Given the description of an element on the screen output the (x, y) to click on. 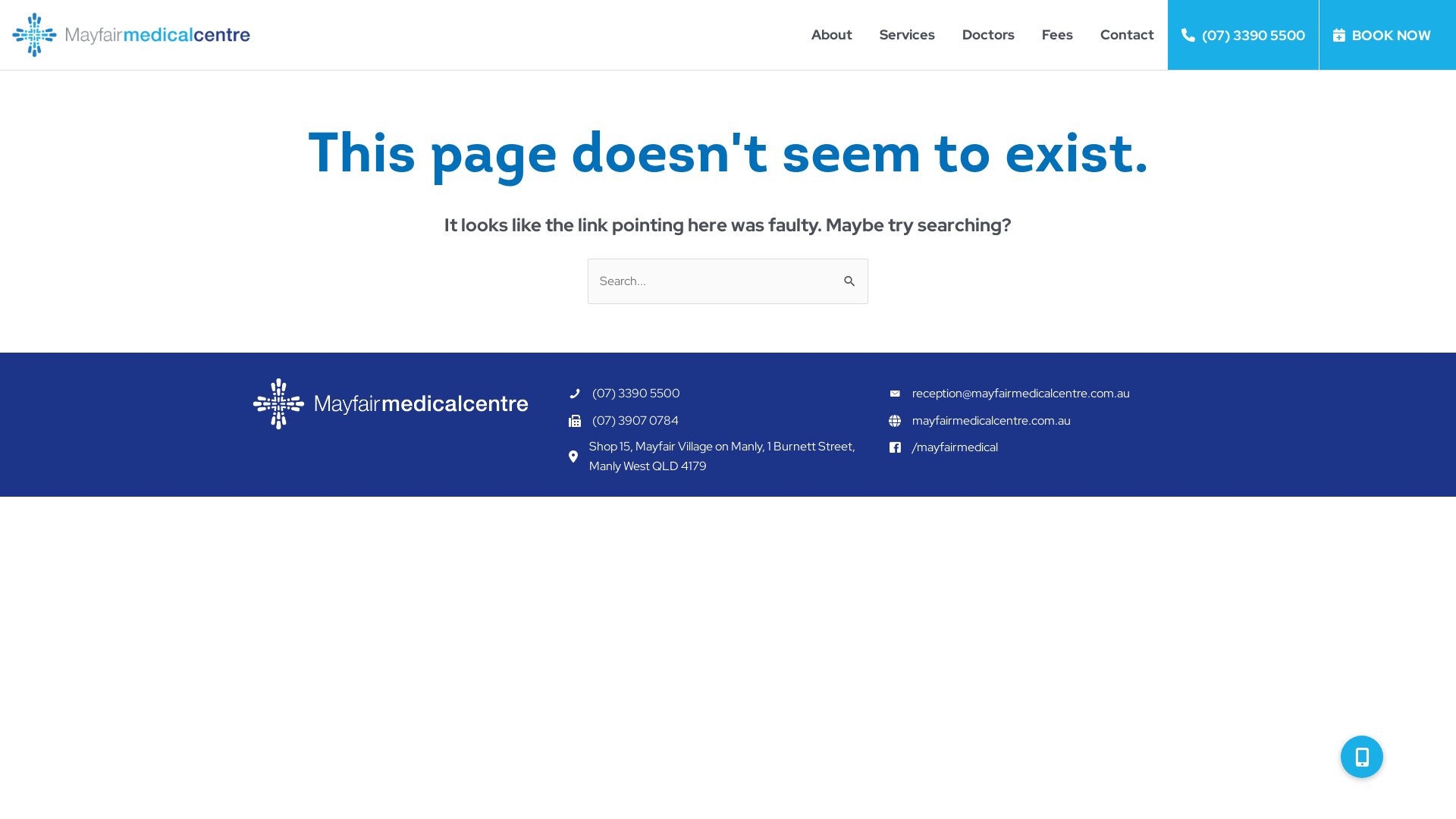
(07) 3390 5500 Element type: text (636, 393)
Search Element type: text (851, 274)
mayfairmedicalcentre.com.au Element type: text (991, 420)
Services Element type: text (907, 34)
Fees Element type: text (1057, 34)
Artboard 1@3x Element type: hover (390, 404)
/mayfairmedical Element type: text (954, 447)
About Element type: text (831, 34)
(07) 3390 5500 Element type: text (1243, 34)
reception@mayfairmedicalcentre.com.au Element type: text (1020, 393)
Doctors Element type: text (988, 34)
Contact Element type: text (1126, 34)
